Given the description of an element on the screen output the (x, y) to click on. 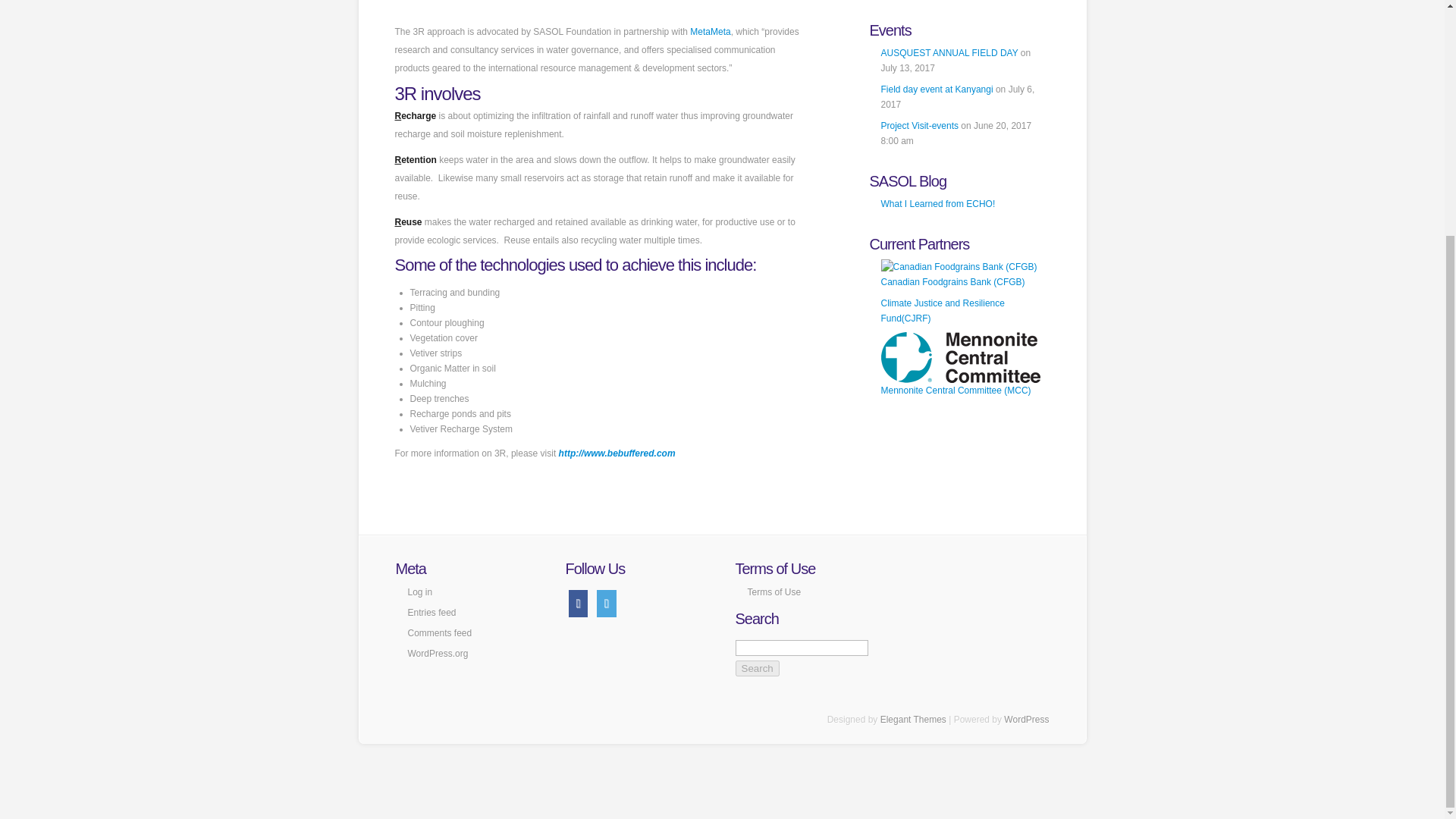
Entries feed (432, 612)
Premium WordPress Themes (913, 719)
Terms of Use (775, 592)
Project Visit-events (919, 125)
Comments feed (439, 633)
Log in (419, 592)
AUSQUEST ANNUAL FIELD DAY (948, 52)
Field day event at Kanyangi (936, 89)
What I Learned from ECHO! (937, 204)
MetaMeta (710, 31)
Search (756, 668)
WordPress.org (437, 653)
